Given the description of an element on the screen output the (x, y) to click on. 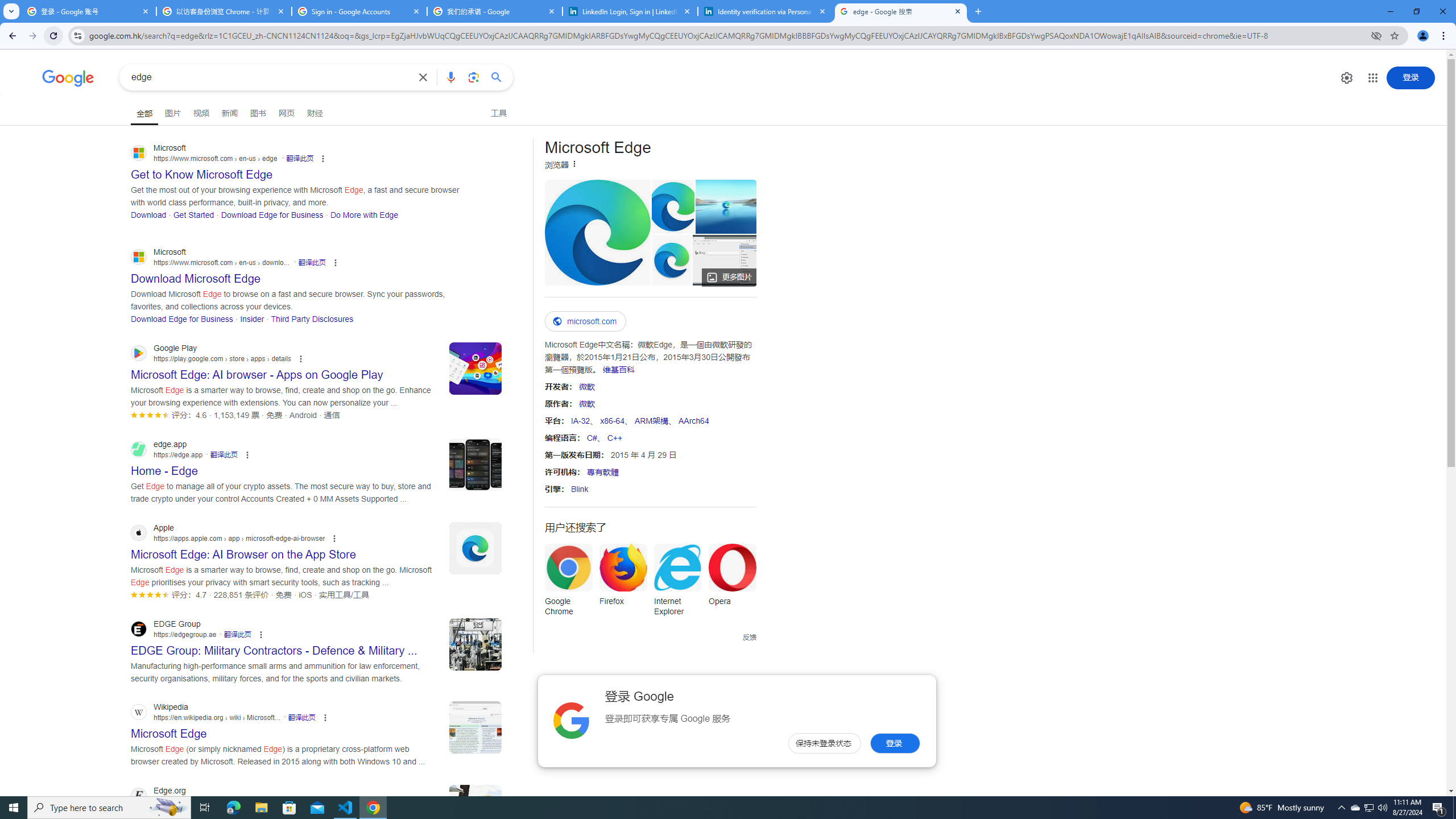
C# (591, 437)
IA-32 (579, 420)
C++ (615, 437)
Opera (733, 578)
Third-party cookies blocked (1376, 35)
Third Party Disclosures (311, 318)
microsoft.com (585, 321)
Identity verification via Persona | LinkedIn Help (765, 11)
